Given the description of an element on the screen output the (x, y) to click on. 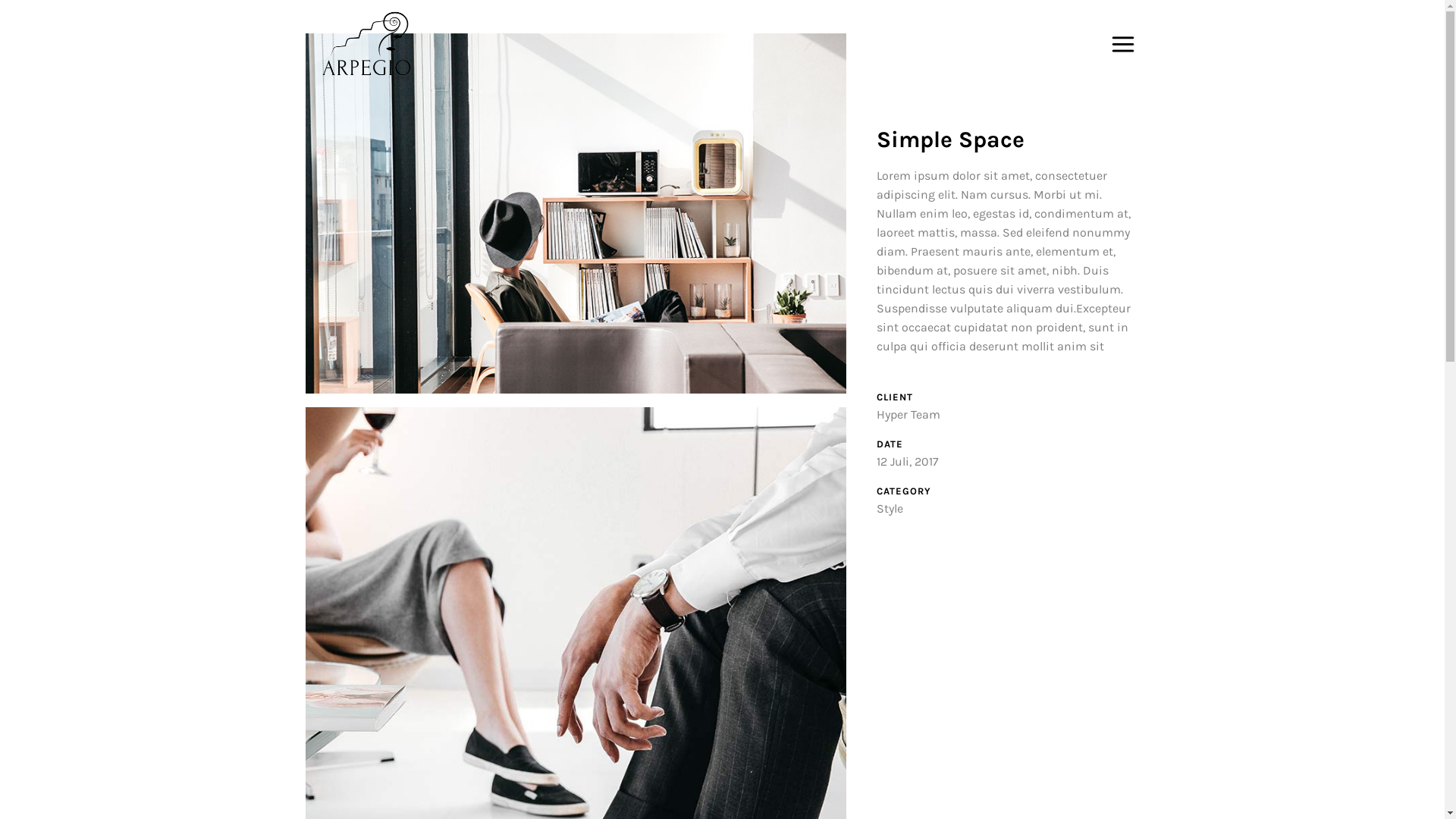
Hat Is Must Have Element type: hover (574, 213)
